Given the description of an element on the screen output the (x, y) to click on. 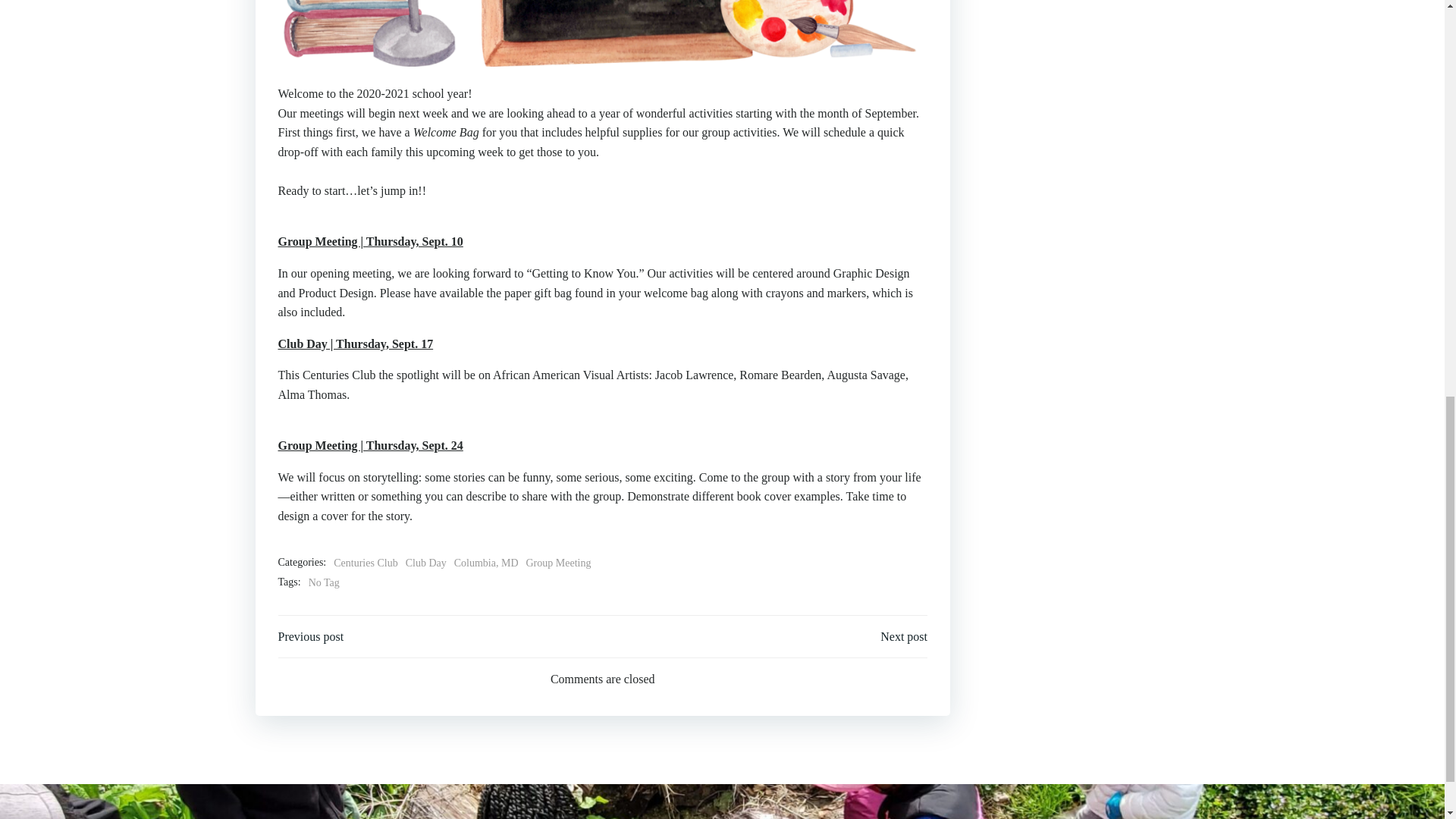
Next post (903, 637)
Group Meeting (558, 563)
Columbia, MD (486, 563)
Previous post (310, 637)
Club Day (426, 563)
Centuries Club (365, 563)
